Given the description of an element on the screen output the (x, y) to click on. 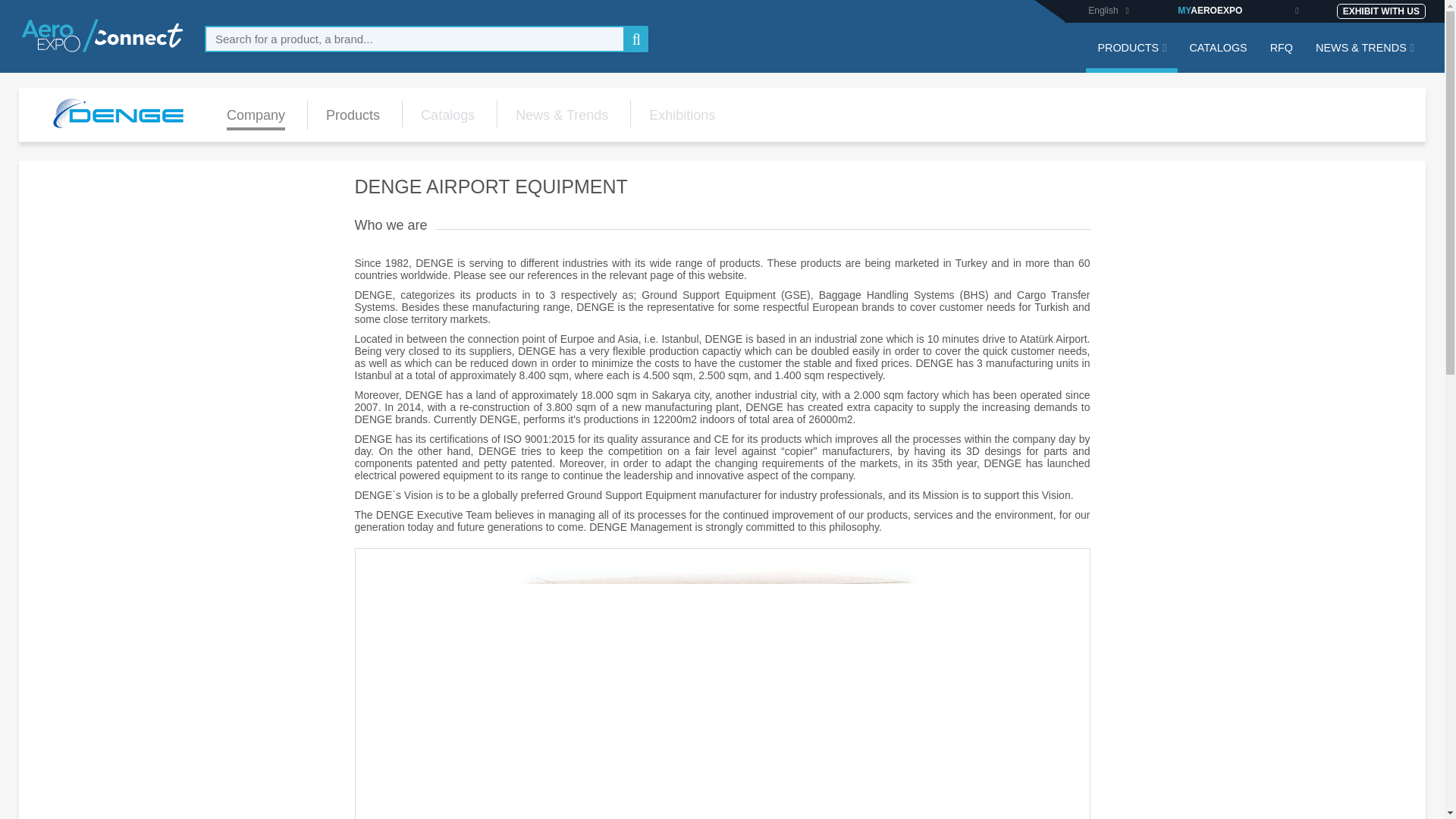
EXHIBIT WITH US (1380, 11)
